Given the description of an element on the screen output the (x, y) to click on. 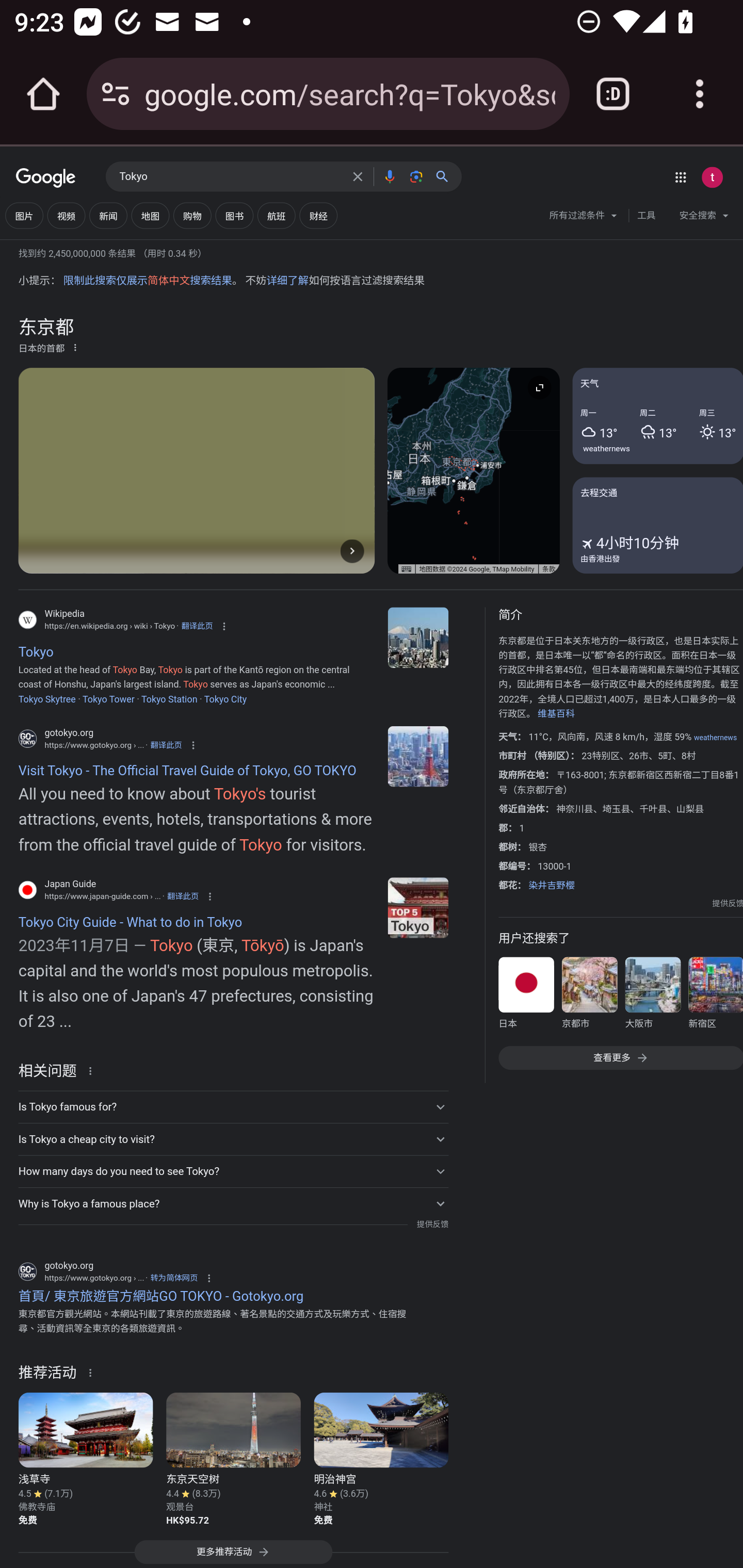
Open the home page (43, 93)
Connection is secure (115, 93)
Switch or close tabs (612, 93)
Customize and control Google Chrome (699, 93)
清除 (357, 176)
按语音搜索 (389, 176)
按图搜索 (415, 176)
搜索 (446, 176)
Google 应用 (680, 176)
Google 账号： test appium (testappium002@gmail.com) (712, 176)
Google (45, 178)
Tokyo (229, 177)
图片 (24, 215)
视频 (65, 215)
新闻 (107, 215)
地图 (149, 215)
购物 (191, 215)
图书 (234, 215)
航班 (276, 215)
财经 (318, 215)
所有过滤条件 (583, 217)
工具 (646, 215)
安全搜索 (703, 217)
限制此搜索仅展示简体中文搜索结果 限制此搜索仅展示 简体中文 搜索结果 (147, 280)
详细了解 (287, 280)
更多选项 (74, 347)
天气 周一 高温 13 度 周二 高温 13 度 周三 高温 13 度 (657, 415)
展开地图 (539, 386)
weathernews (606, 448)
去程交通 4小时10分钟 乘坐飞机 由香港出發 (657, 524)
下一张图片 (352, 550)
Tokyo (417, 636)
翻译此页 (196, 626)
Tokyo Skytree (46, 698)
Tokyo Tower (108, 698)
Tokyo Station (169, 698)
Tokyo City (225, 698)
维基百科 (556, 713)
index (417, 756)
weathernews (715, 736)
翻译此页 (166, 744)
e2164 (417, 906)
染井吉野樱 (551, 884)
翻译此页 (182, 896)
提供反馈 (727, 903)
日本 (526, 996)
京都市 (588, 996)
大阪市 (652, 996)
新宿区 (715, 996)
查看更多 查看更多 查看更多 (620, 1057)
关于这条结果的详细信息 (93, 1070)
Is Tokyo famous for? (232, 1105)
Is Tokyo a cheap city to visit? (232, 1138)
How many days do you need to see Tokyo? (232, 1170)
Why is Tokyo a famous place? (232, 1202)
提供反馈 (432, 1224)
转为简体网页 (174, 1277)
关于这条结果的详细信息 (93, 1372)
更多推荐活动 (232, 1553)
